Given the description of an element on the screen output the (x, y) to click on. 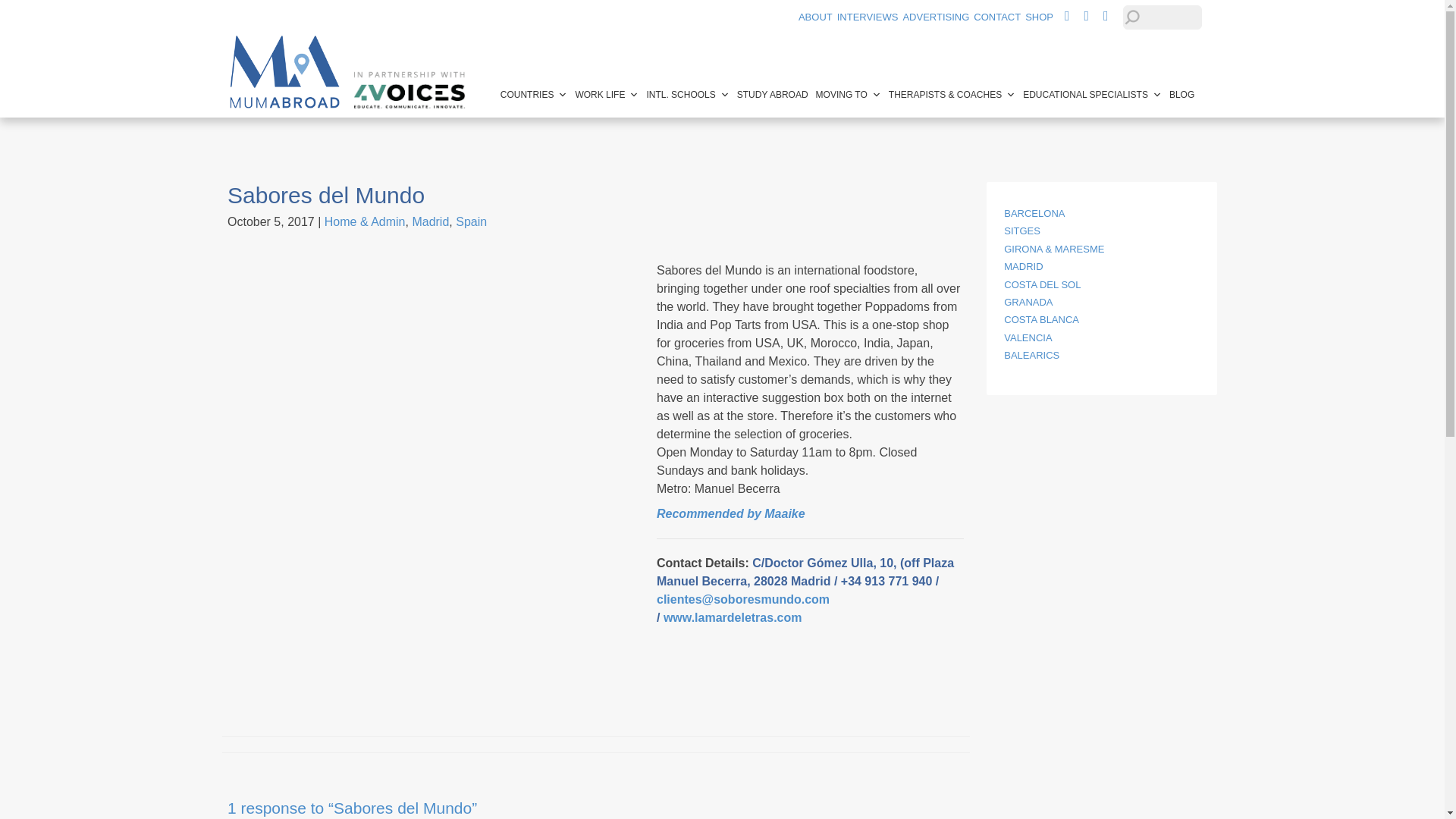
Search for: (1162, 16)
ABOUT (814, 16)
INTERVIEWS (867, 16)
ADVERTISING (935, 16)
Search (25, 11)
COUNTRIES (534, 94)
CONTACT (997, 16)
SHOP (1038, 16)
